Given the description of an element on the screen output the (x, y) to click on. 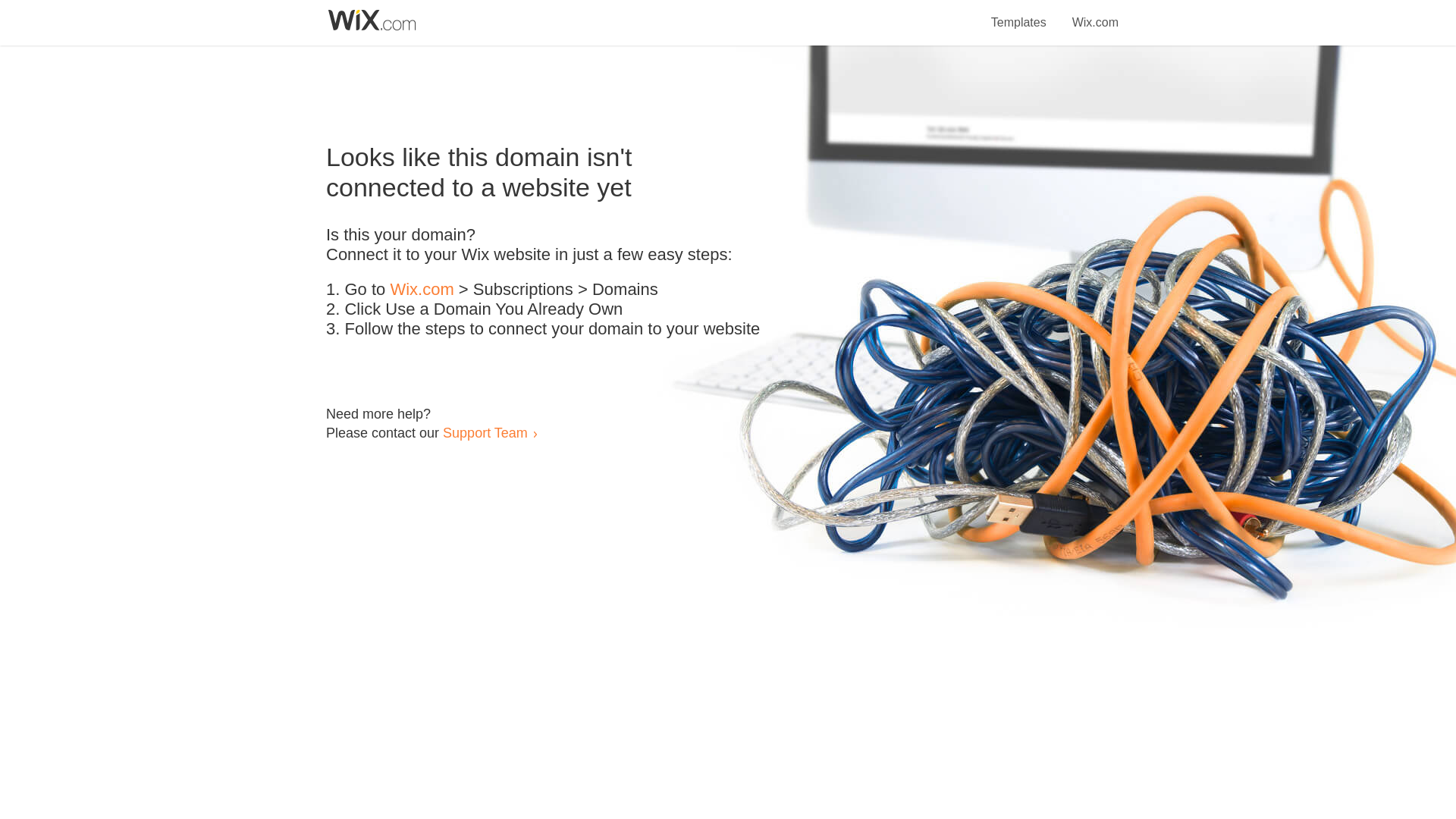
Templates (1018, 14)
Support Team (484, 432)
Wix.com (421, 289)
Wix.com (1095, 14)
